Given the description of an element on the screen output the (x, y) to click on. 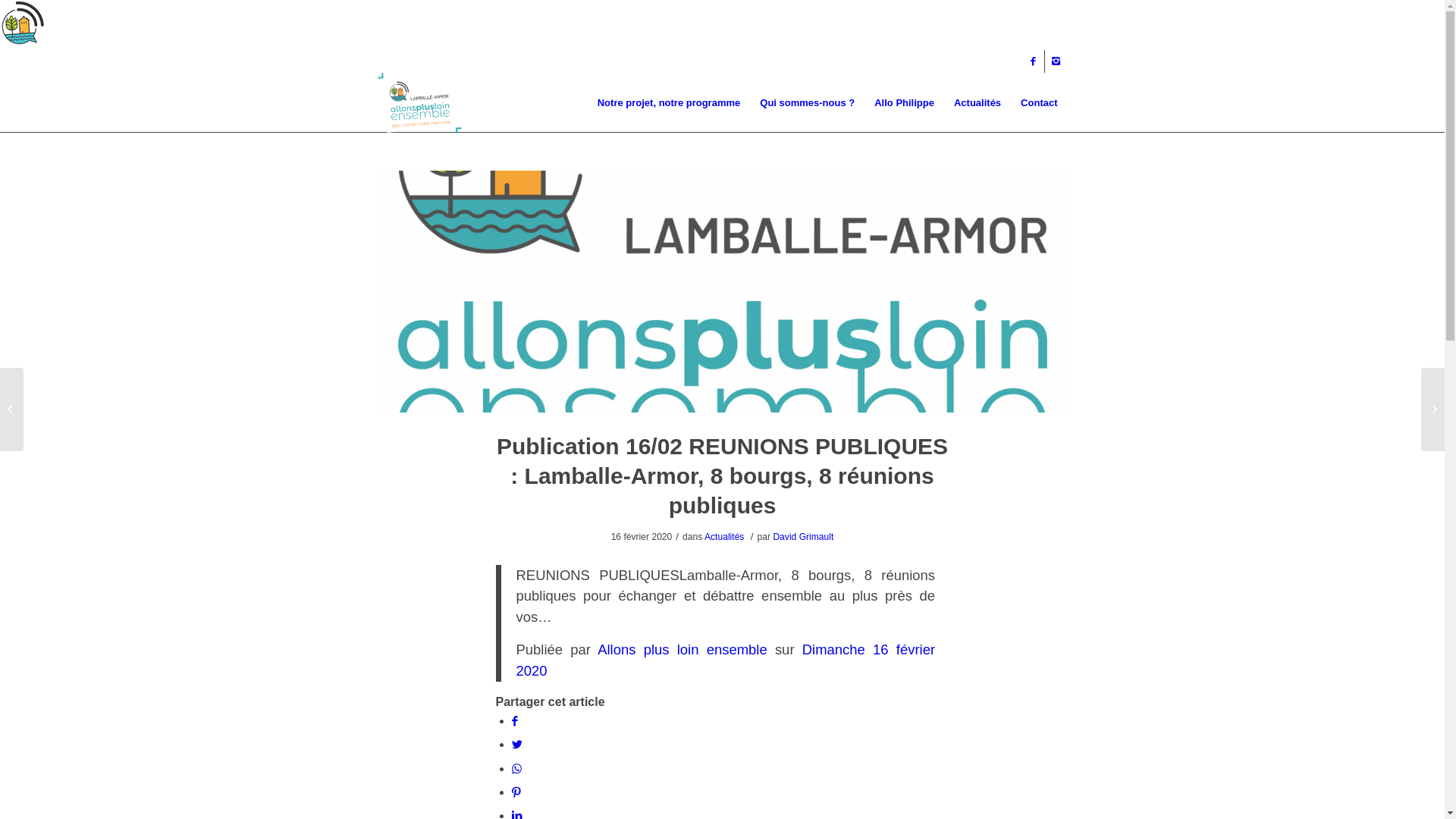
David Grimault Element type: text (802, 536)
Chargement Element type: hover (22, 22)
Allons plus loin ensemble Element type: text (682, 649)
Qui sommes-nous ? Element type: text (806, 102)
Instagram Element type: hover (1055, 61)
Facebook Element type: hover (1033, 61)
Contact Element type: text (1038, 102)
Allo Philippe Element type: text (904, 102)
Notre projet, notre programme Element type: text (668, 102)
